Given the description of an element on the screen output the (x, y) to click on. 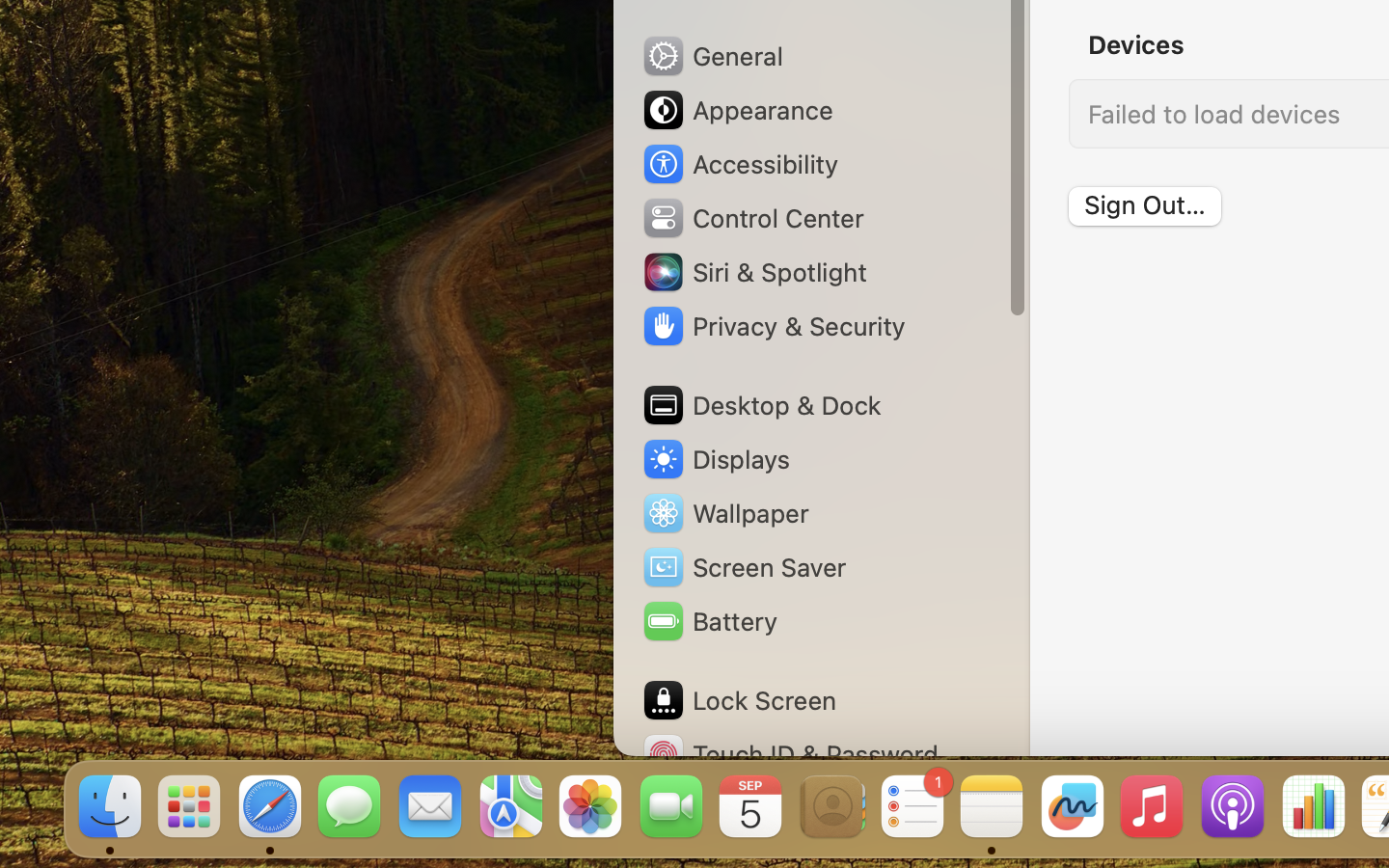
Failed to load devices Element type: AXStaticText (1214, 113)
Desktop & Dock Element type: AXStaticText (760, 404)
Siri & Spotlight Element type: AXStaticText (753, 271)
Control Center Element type: AXStaticText (752, 217)
Displays Element type: AXStaticText (715, 458)
